Given the description of an element on the screen output the (x, y) to click on. 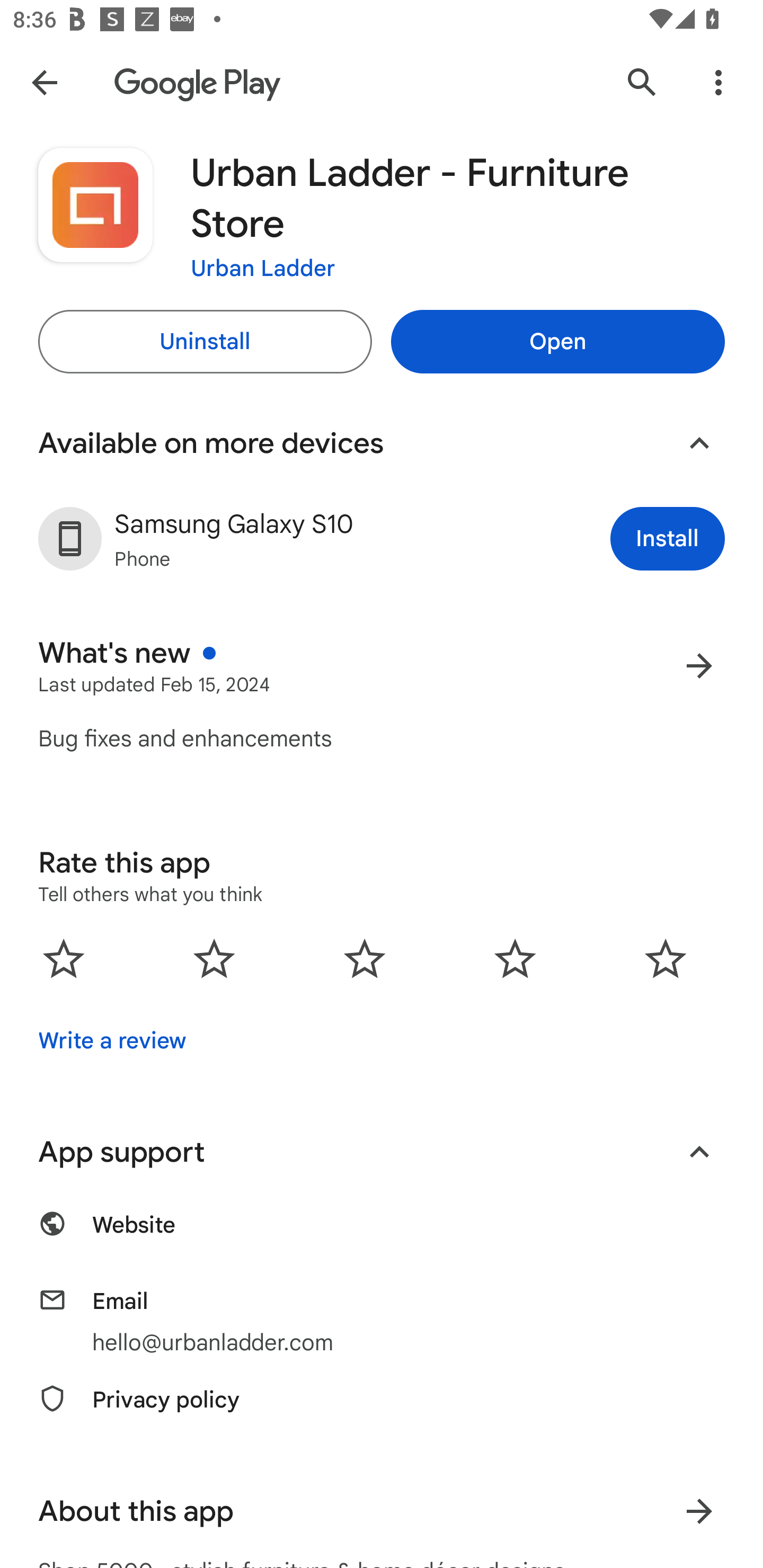
Navigate up (44, 81)
Search Google Play (642, 81)
More Options (718, 81)
Urban Ladder (262, 267)
Uninstall (205, 341)
Open (557, 341)
Available on more devices Collapse (381, 442)
Collapse (699, 442)
Install (667, 538)
More results for What's new (699, 665)
0.0 (364, 957)
Write a review (112, 1040)
App support Collapse (381, 1151)
Collapse (699, 1151)
Website (381, 1234)
Email hello@urbanladder.com (381, 1322)
Privacy policy (381, 1409)
About this app Learn more About this app (381, 1510)
Learn more About this app (699, 1511)
